Given the description of an element on the screen output the (x, y) to click on. 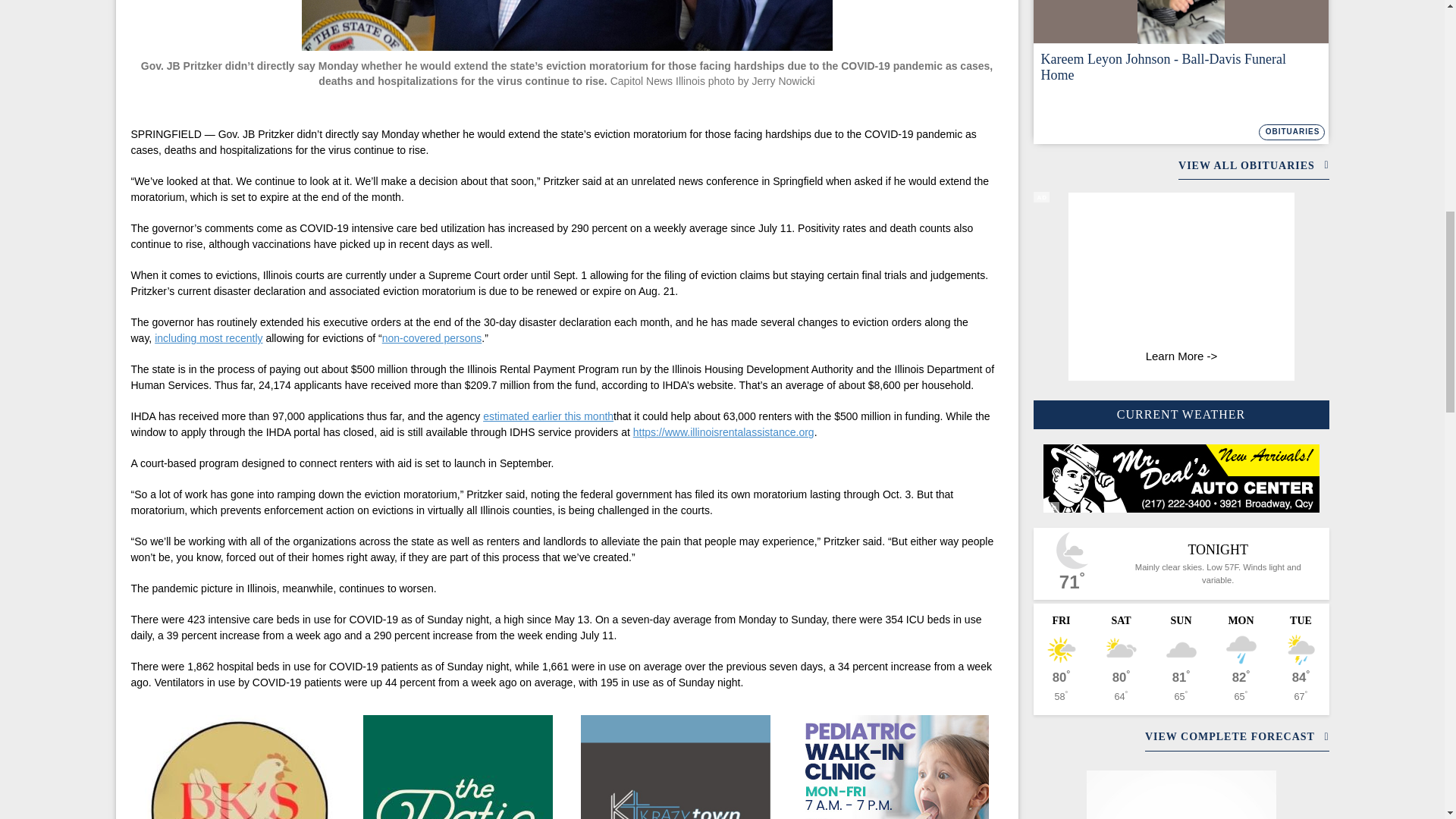
700700p718EDNmainimg-PRITZKER-0067 (566, 25)
